Given the description of an element on the screen output the (x, y) to click on. 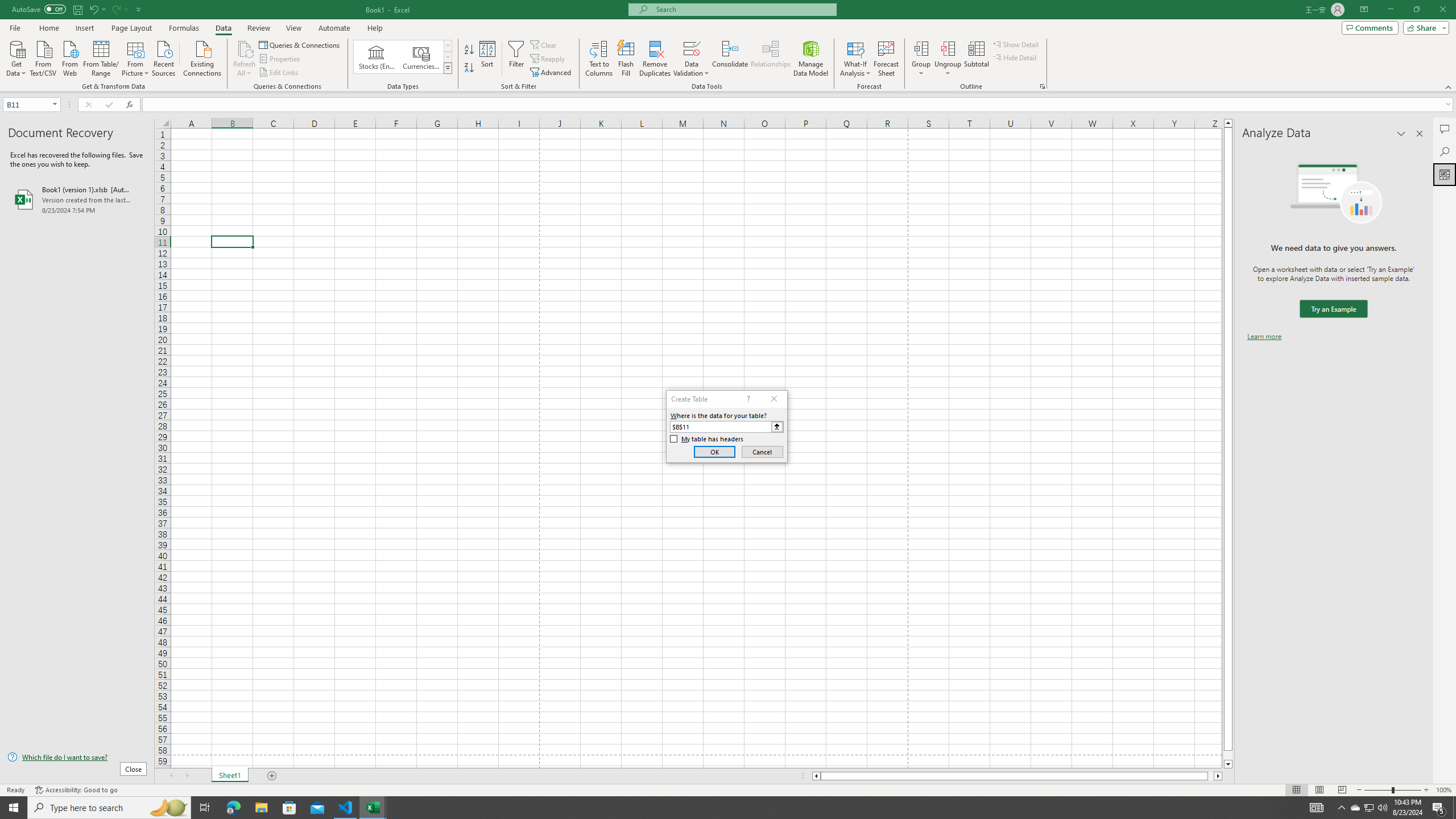
Relationships (770, 58)
Get Data (16, 57)
Edit Links (279, 72)
Text to Columns... (598, 58)
Queries & Connections (300, 44)
Data Types (448, 67)
Stocks (English) (375, 56)
Sort Z to A (469, 67)
From Table/Range (100, 57)
